Given the description of an element on the screen output the (x, y) to click on. 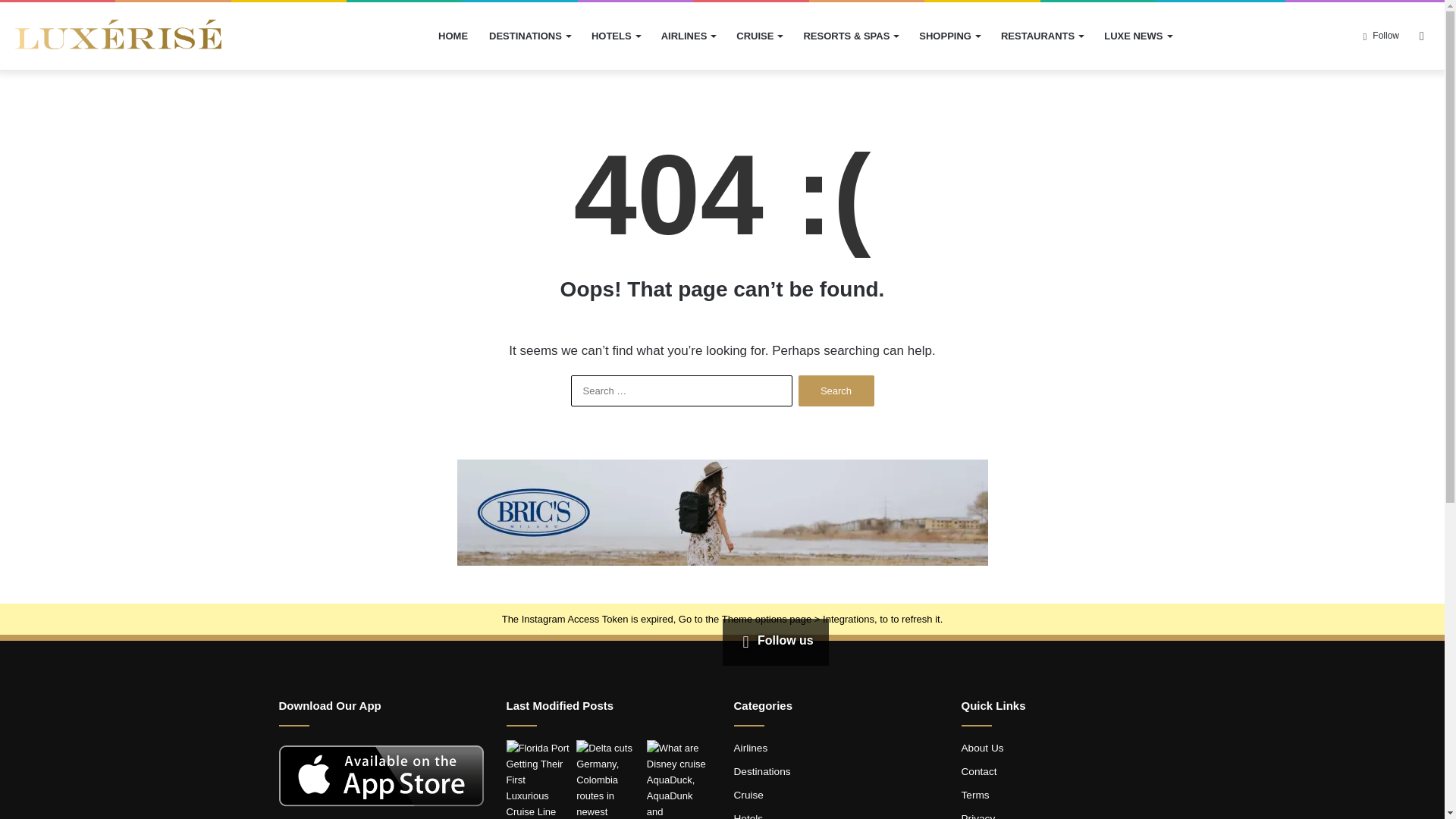
LUXE NEWS (1136, 35)
RESTAURANTS (1041, 35)
Follow us (774, 640)
Search (835, 390)
SHOPPING (949, 35)
Cruise (747, 794)
Follow us (774, 640)
DESTINATIONS (529, 35)
Luxerise (118, 35)
Search (835, 390)
